Given the description of an element on the screen output the (x, y) to click on. 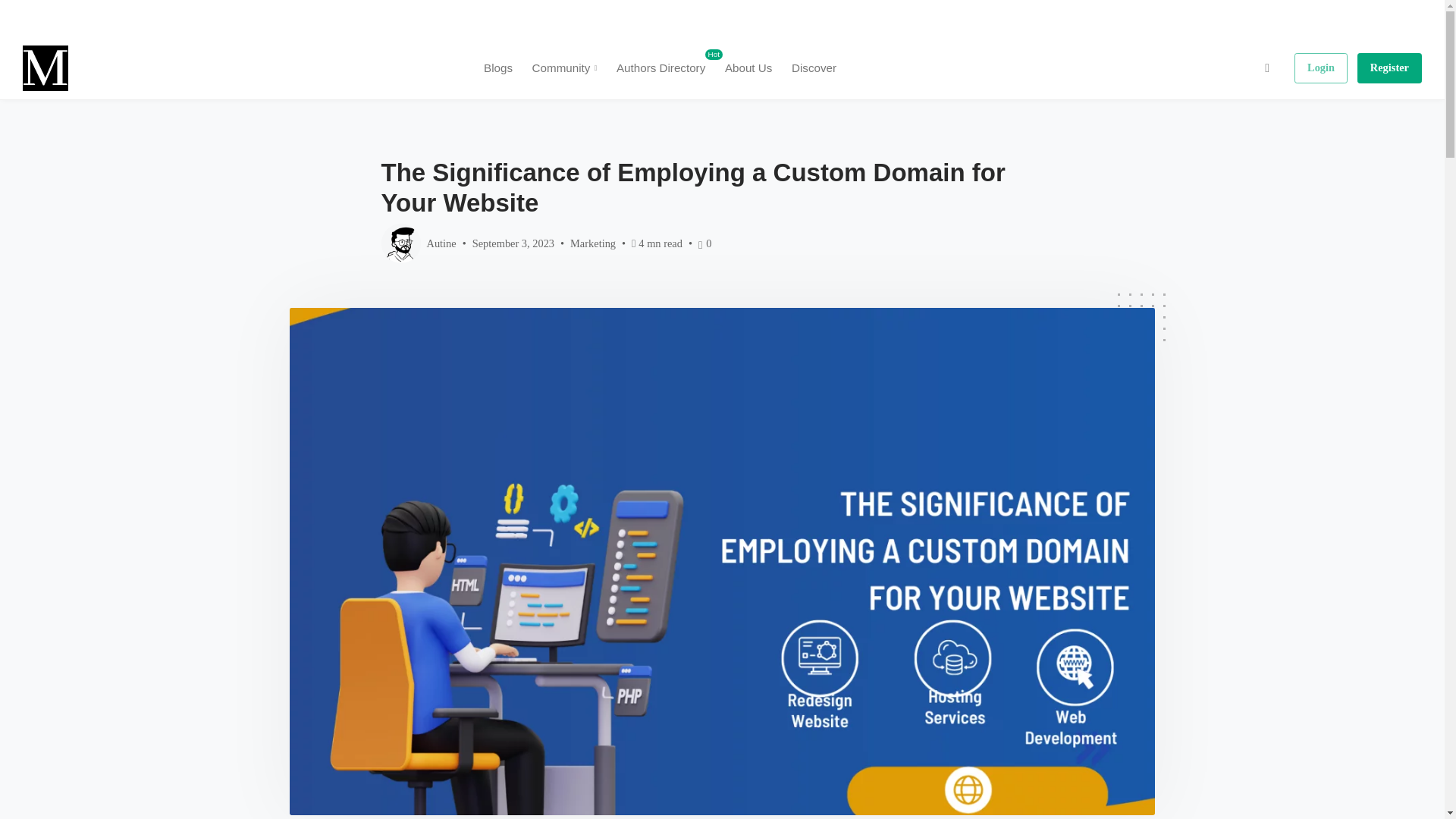
Login (1321, 68)
About Us (747, 67)
Register (1389, 68)
Blogs (498, 67)
September 3, 2023 (512, 243)
Discover (813, 67)
Autine (417, 242)
Community (660, 67)
